Given the description of an element on the screen output the (x, y) to click on. 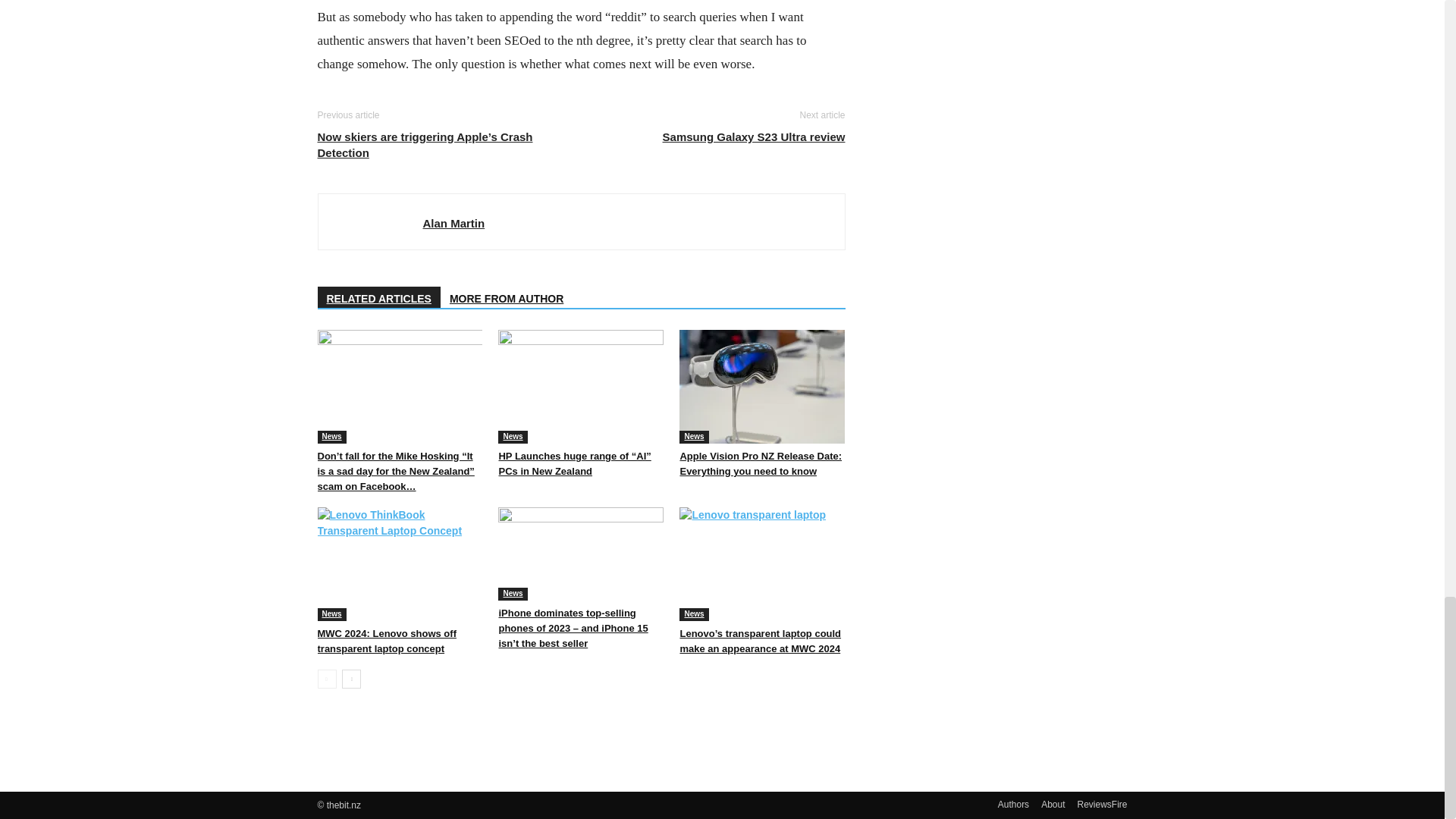
Samsung Galaxy S23 Ultra review (753, 136)
Alan Martin (453, 223)
MORE FROM AUTHOR (506, 296)
RELATED ARTICLES (378, 296)
